Given the description of an element on the screen output the (x, y) to click on. 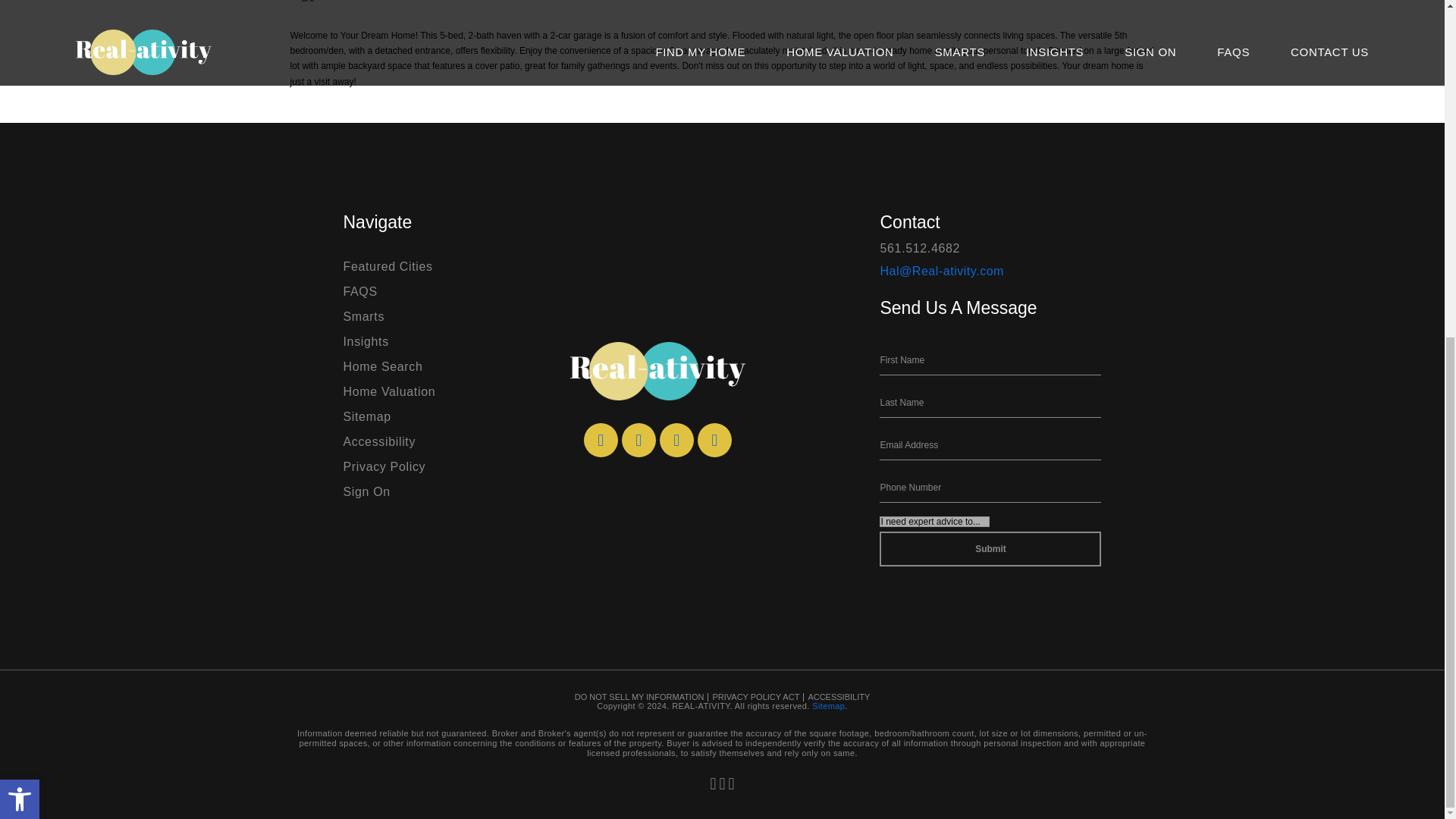
Submit (989, 548)
Accessibility Tools (19, 230)
Accessibility Tools (19, 230)
